Given the description of an element on the screen output the (x, y) to click on. 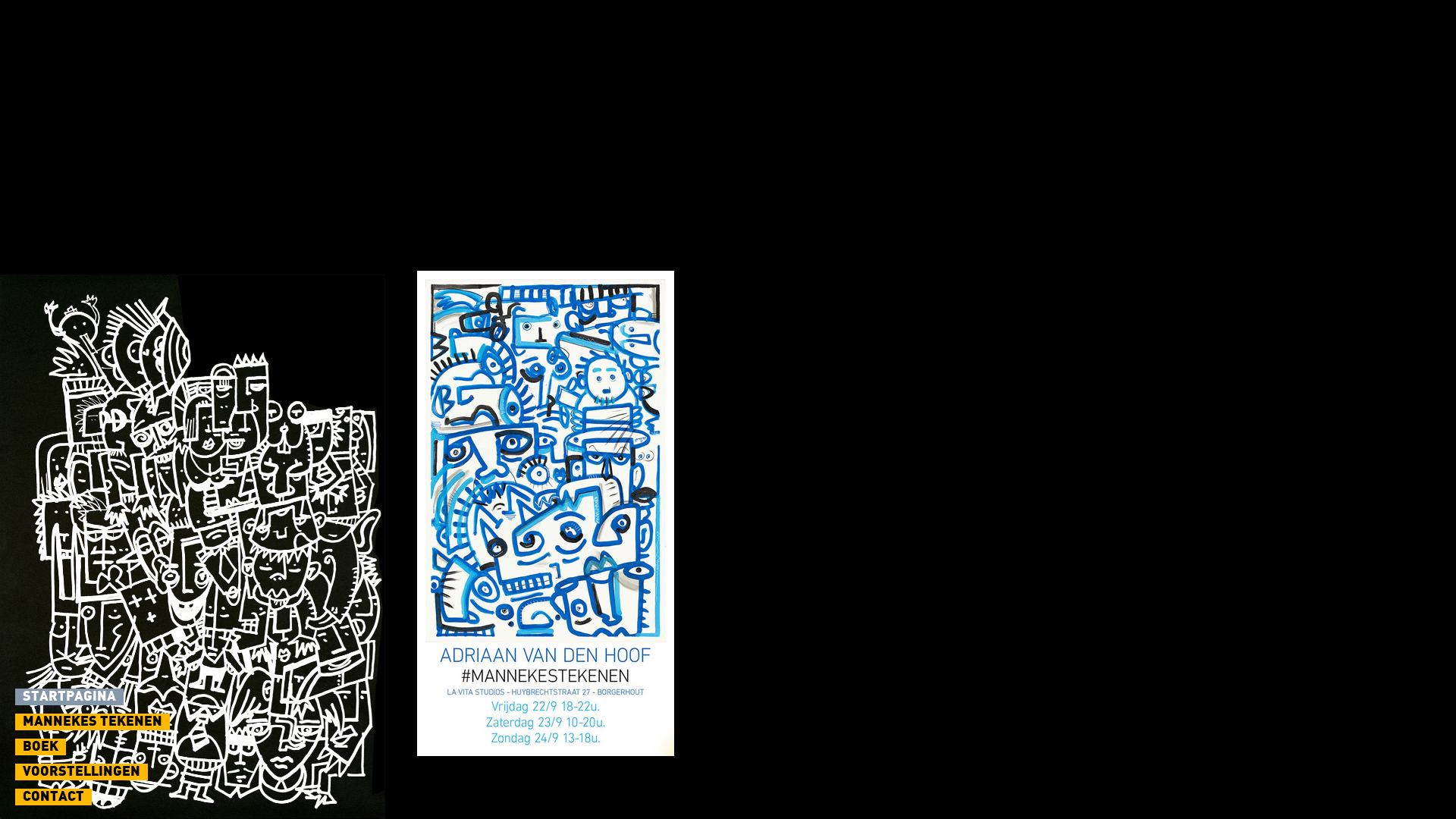
STARTPAGINA Element type: text (69, 696)
BOEK Element type: text (40, 746)
VOORSTELLINGEN Element type: text (81, 771)
CONTACT Element type: text (53, 796)
MANNEKES TEKENEN Element type: text (92, 721)
